Given the description of an element on the screen output the (x, y) to click on. 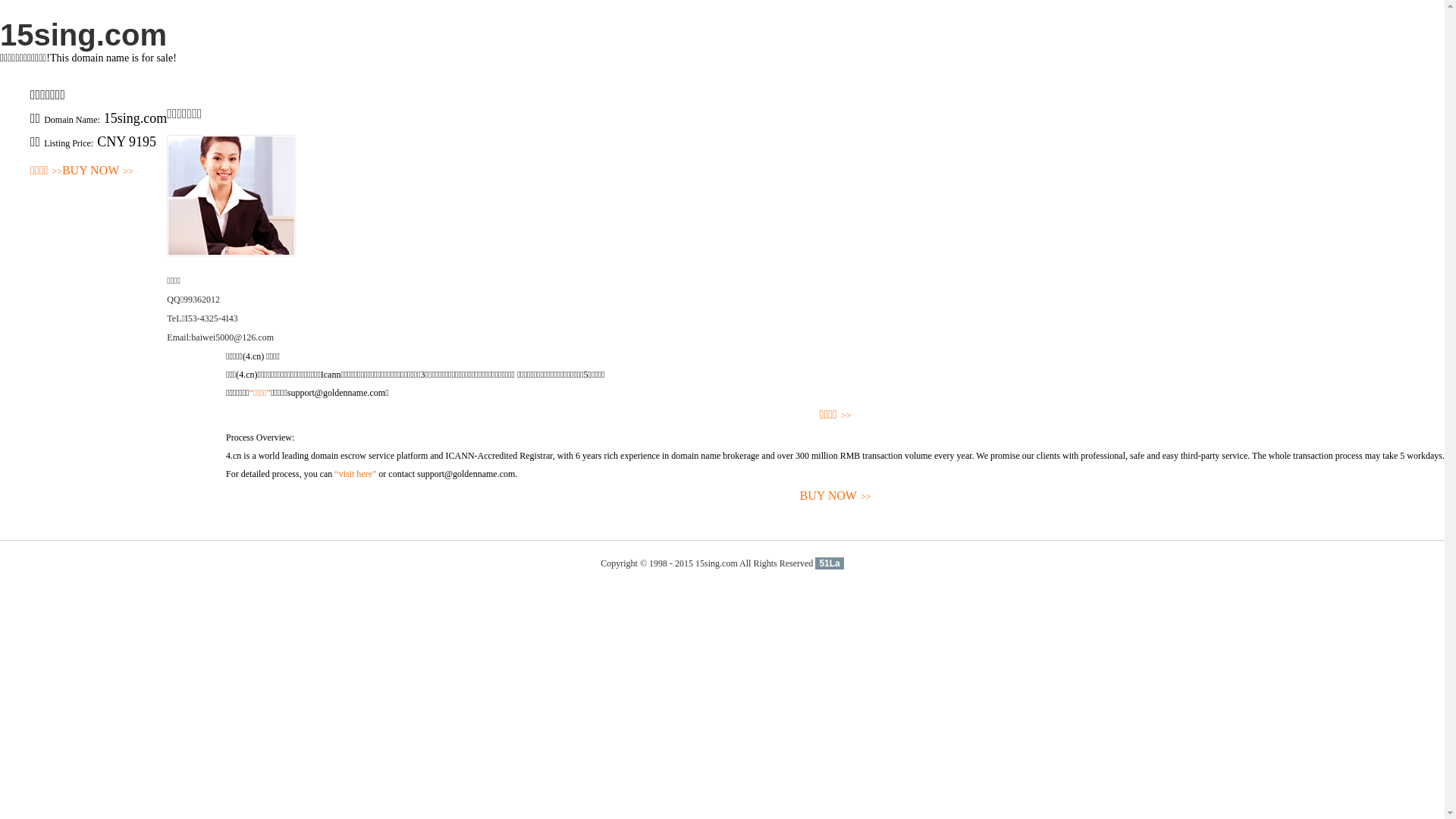
51La Element type: text (829, 563)
BUY NOW>> Element type: text (834, 496)
BUY NOW>> Element type: text (97, 170)
